Given the description of an element on the screen output the (x, y) to click on. 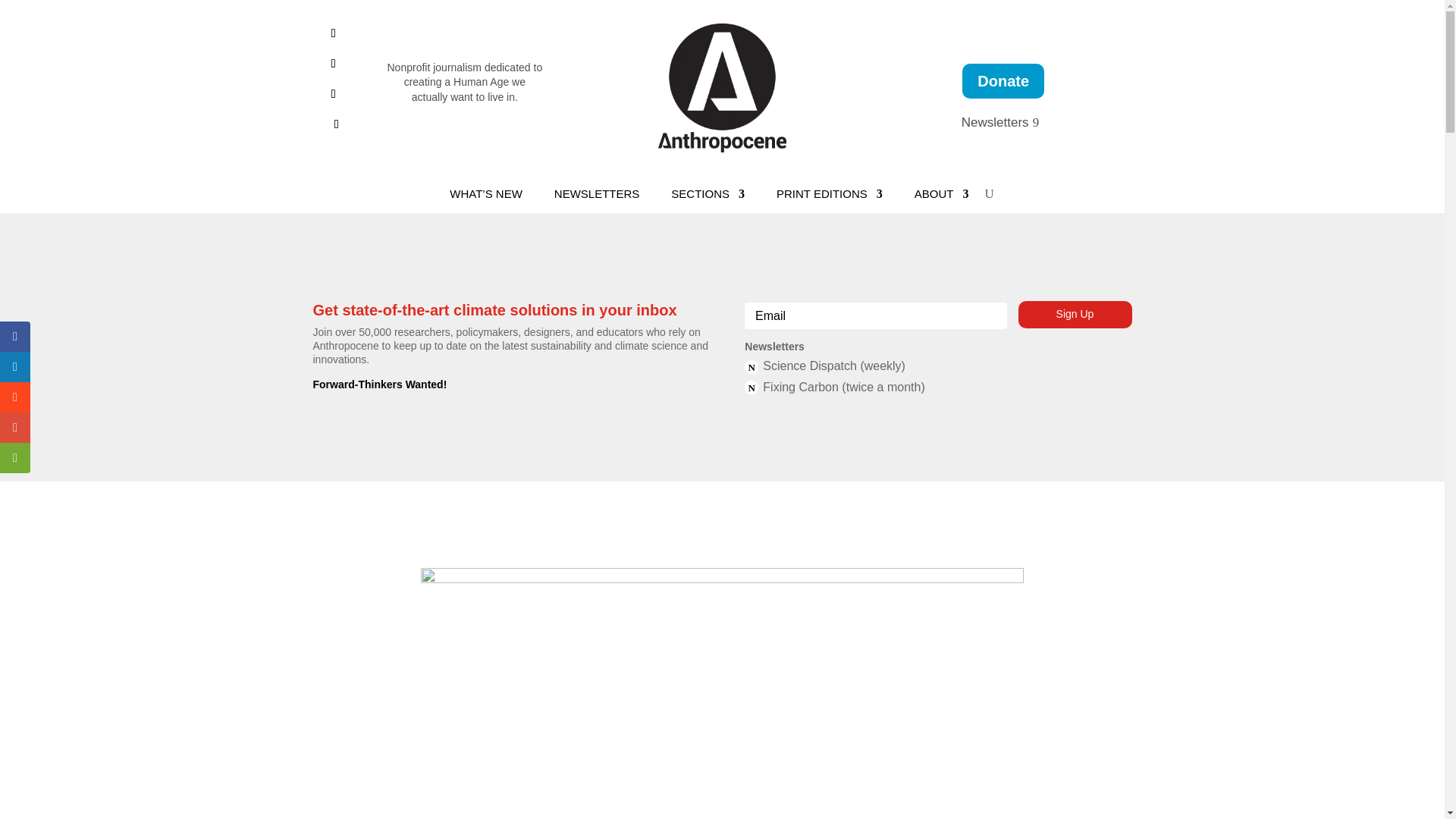
Newsletters (1003, 123)
SECTIONS (707, 197)
PRINT EDITIONS (829, 197)
Follow on RSS (336, 124)
Anthropocene-mark250 (722, 87)
NEWSLETTERS (597, 197)
Follow on LinkedIn (333, 63)
Follow on Facebook (333, 33)
Follow on FlipBoard (333, 93)
Donate (1002, 80)
